Given the description of an element on the screen output the (x, y) to click on. 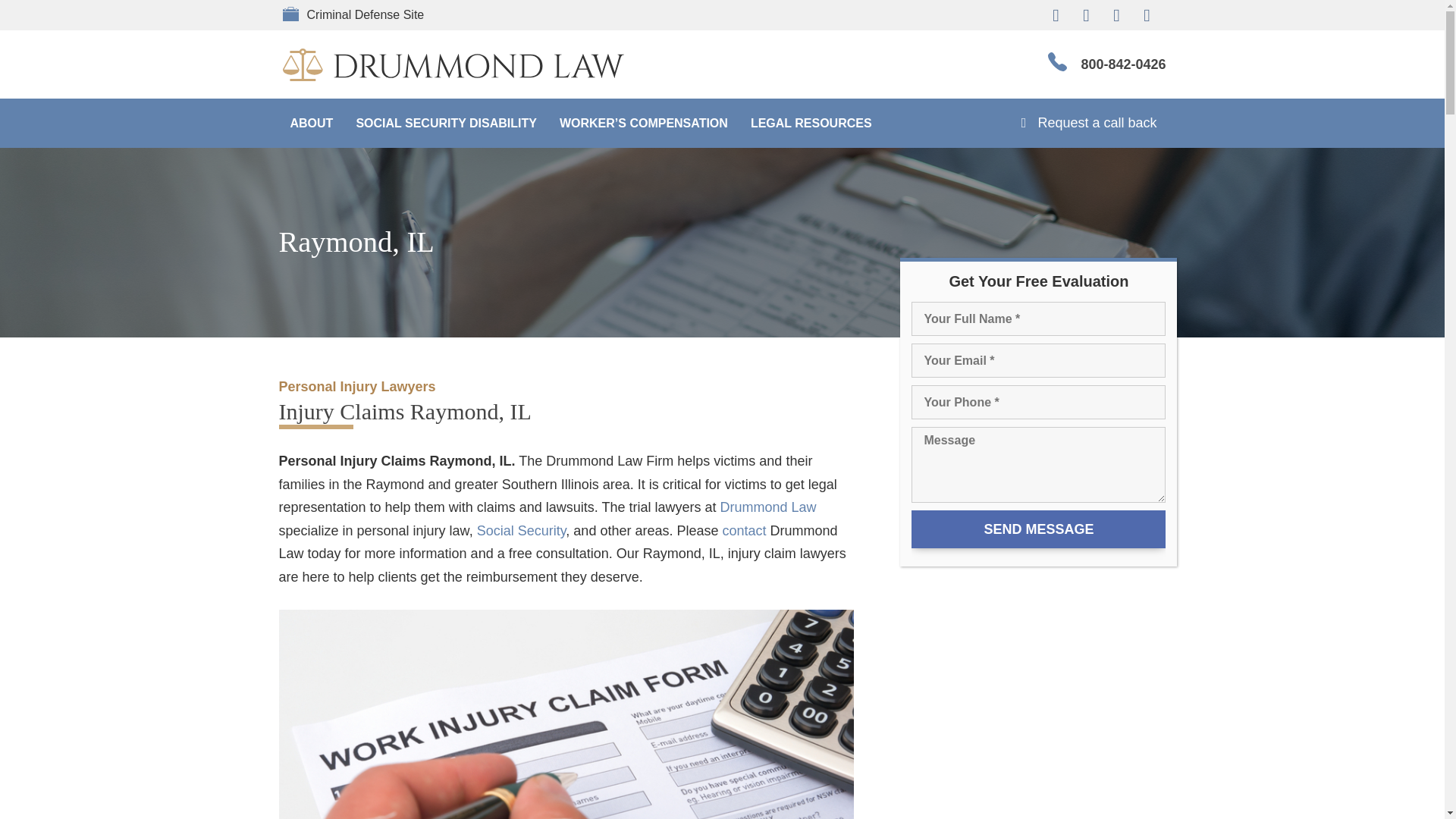
LEGAL RESOURCES (811, 123)
contact (743, 530)
Social Security (521, 530)
Send Message (1038, 528)
Drummond Law (767, 507)
800-842-0426 (1123, 64)
Criminal Defense Site (376, 14)
ABOUT (312, 123)
SOCIAL SECURITY DISABILITY (445, 123)
